Given the description of an element on the screen output the (x, y) to click on. 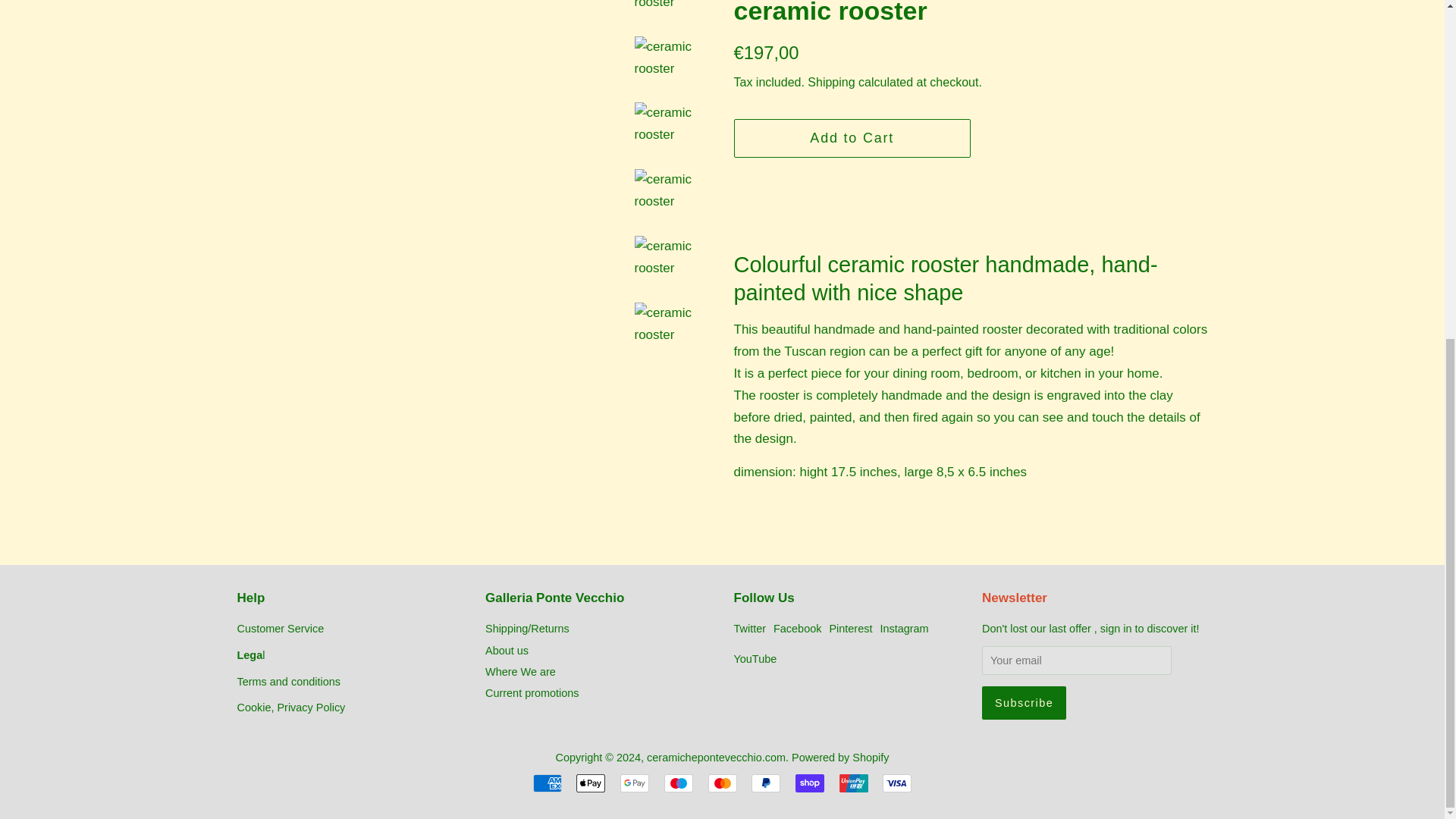
ceramichepontevecchio.com on YouTube (755, 658)
Shop Pay (809, 782)
ceramichepontevecchio.com on Instagram (903, 628)
Union Pay (853, 782)
Subscribe (1023, 702)
Mastercard (721, 782)
PayPal (765, 782)
Custumer Service (279, 628)
Google Pay (634, 782)
ceramichepontevecchio.com on Twitter (750, 628)
